Given the description of an element on the screen output the (x, y) to click on. 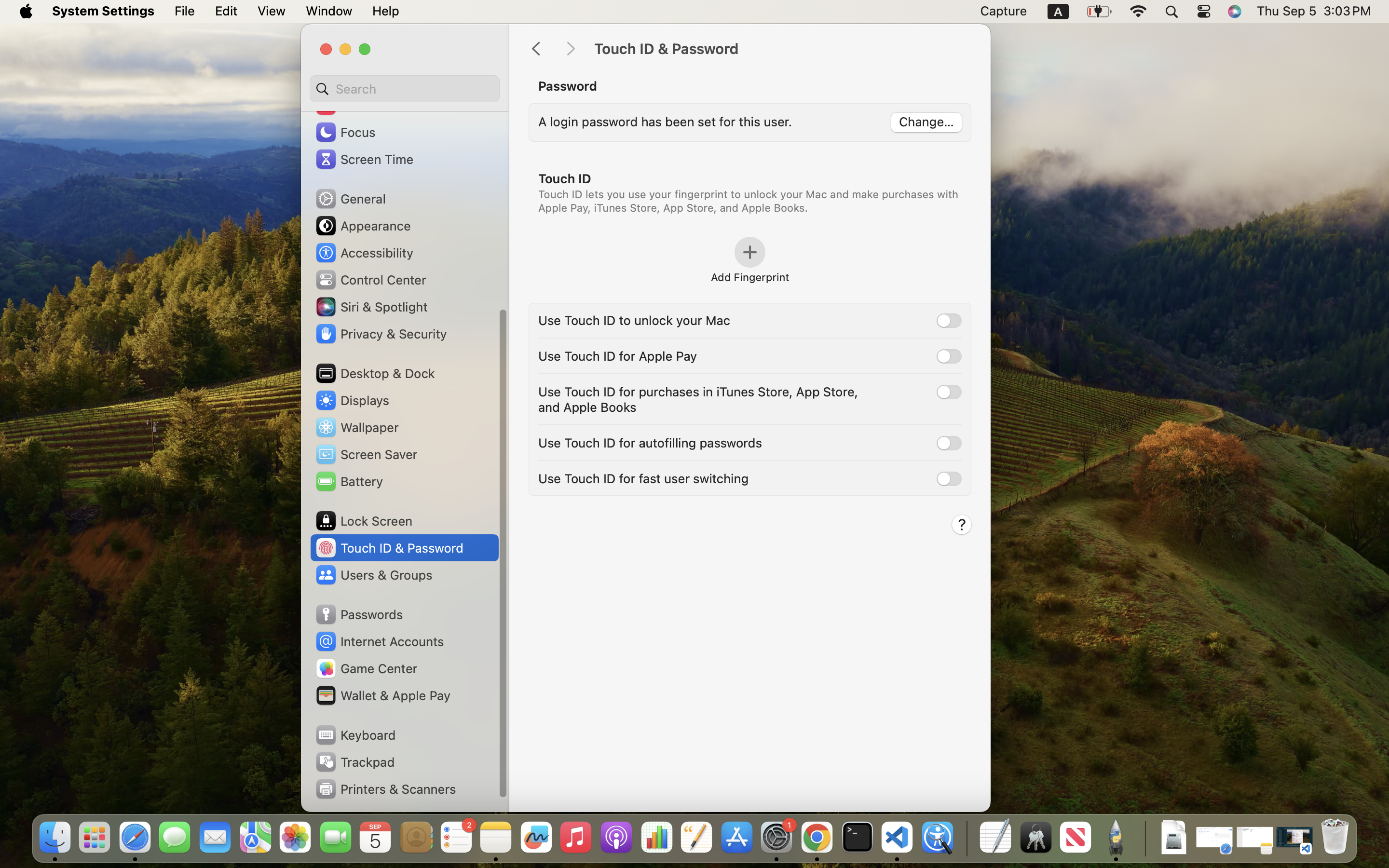
Sound Element type: AXStaticText (346, 104)
Wallpaper Element type: AXStaticText (356, 426)
Accessibility Element type: AXStaticText (363, 252)
